Given the description of an element on the screen output the (x, y) to click on. 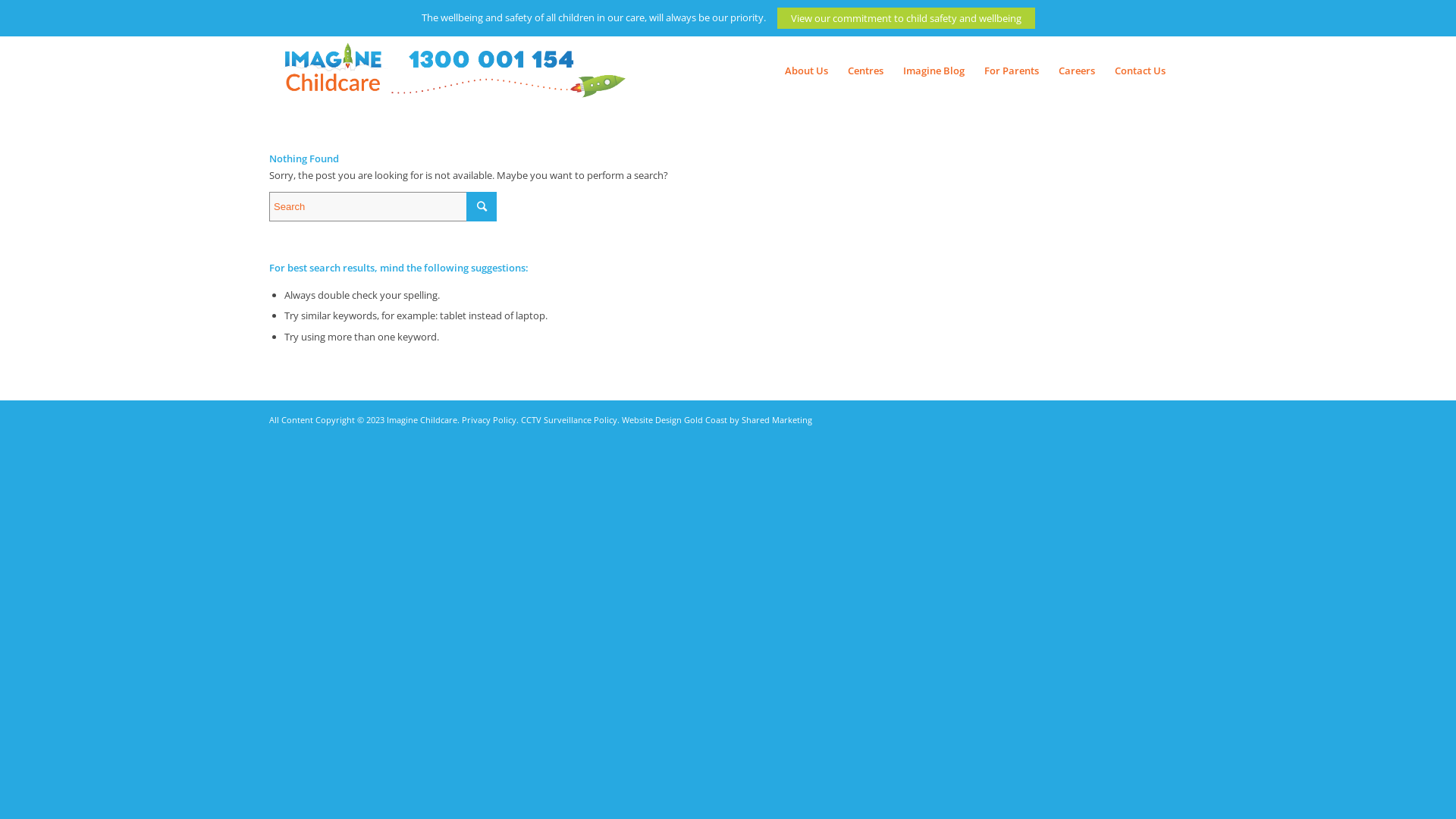
CCTV Surveillance Policy Element type: text (568, 419)
Centres Element type: text (865, 70)
Imagine Blog Element type: text (933, 70)
Contact Us Element type: text (1145, 70)
Careers Element type: text (1076, 70)
View our commitment to child safety and wellbeing Element type: text (905, 18)
Privacy Policy Element type: text (488, 419)
For Parents Element type: text (1011, 70)
Website Design Gold Coast Element type: text (674, 419)
Shared Marketing Element type: text (776, 419)
About Us Element type: text (806, 70)
